Given the description of an element on the screen output the (x, y) to click on. 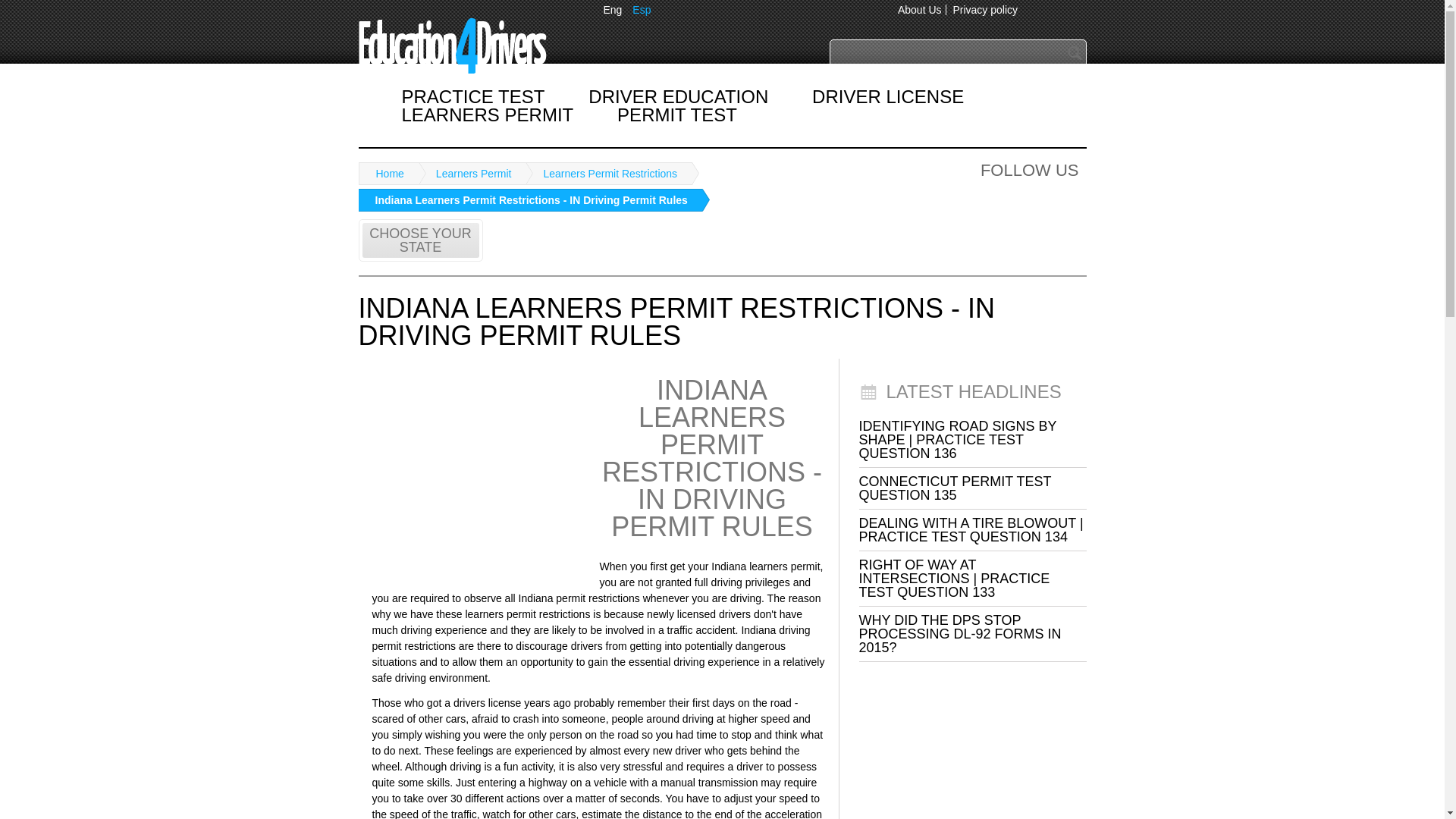
Home (384, 173)
CHOOSE YOUR STATE (419, 240)
Learners Permit (468, 173)
Privacy policy (984, 9)
LEARNERS PERMIT (487, 114)
DRIVER LICENSE (888, 96)
About Us (920, 9)
PERMIT TEST (677, 114)
Learners Permit Restrictions (603, 173)
Learners Permit (487, 114)
Learners Permit (468, 173)
PRACTICE TEST (473, 96)
DRIVER EDUCATION (678, 96)
